Given the description of an element on the screen output the (x, y) to click on. 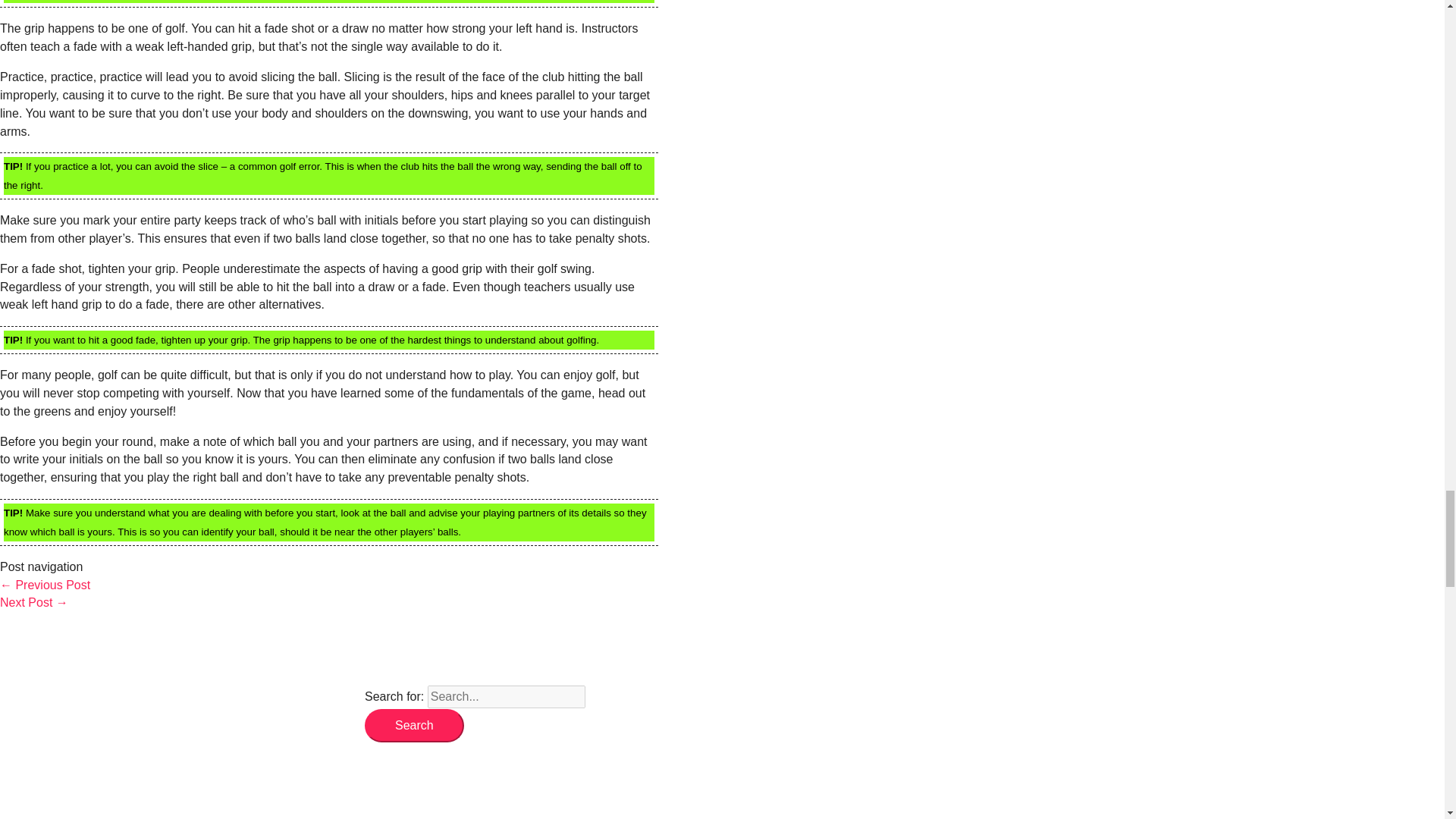
Simple Tips And Tricks To Help You Become A Better Fisherman (34, 602)
Search (414, 725)
Always Wondering How To Pick A Great Hotel? Use These Tips! (45, 584)
Search (414, 725)
Search (414, 725)
